Given the description of an element on the screen output the (x, y) to click on. 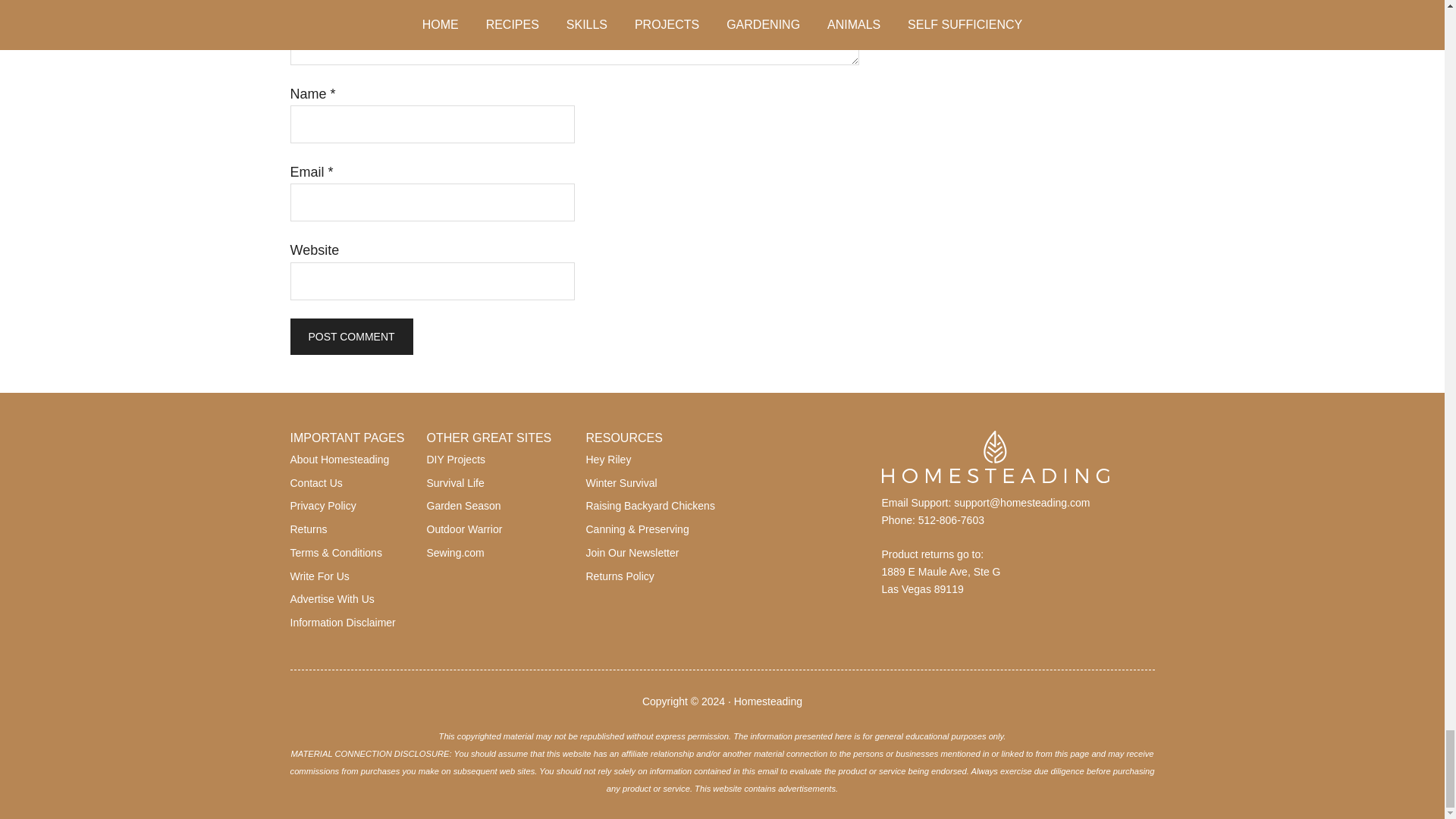
Post Comment (350, 336)
